Given the description of an element on the screen output the (x, y) to click on. 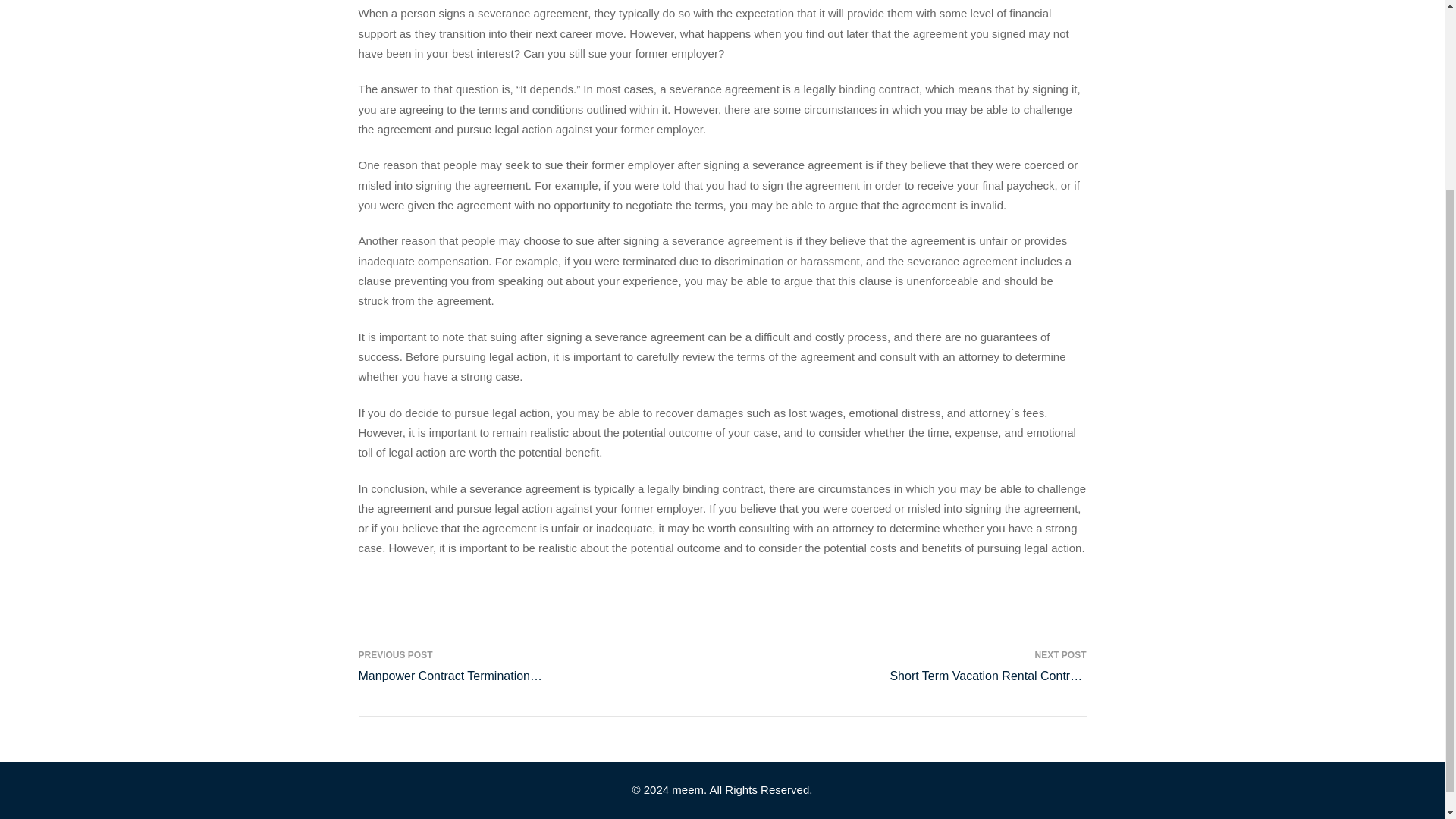
meem (687, 789)
